Given the description of an element on the screen output the (x, y) to click on. 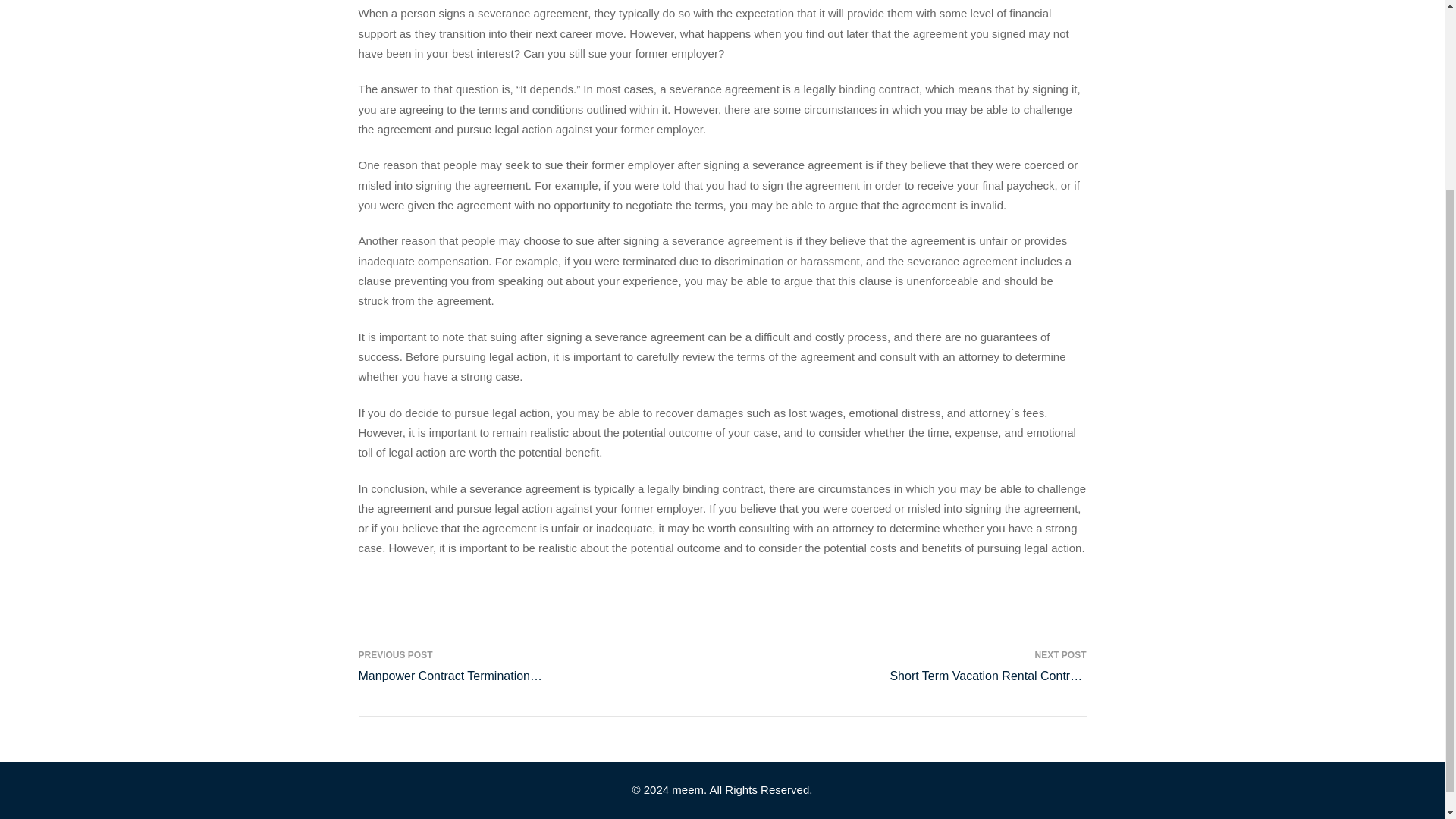
meem (687, 789)
